Given the description of an element on the screen output the (x, y) to click on. 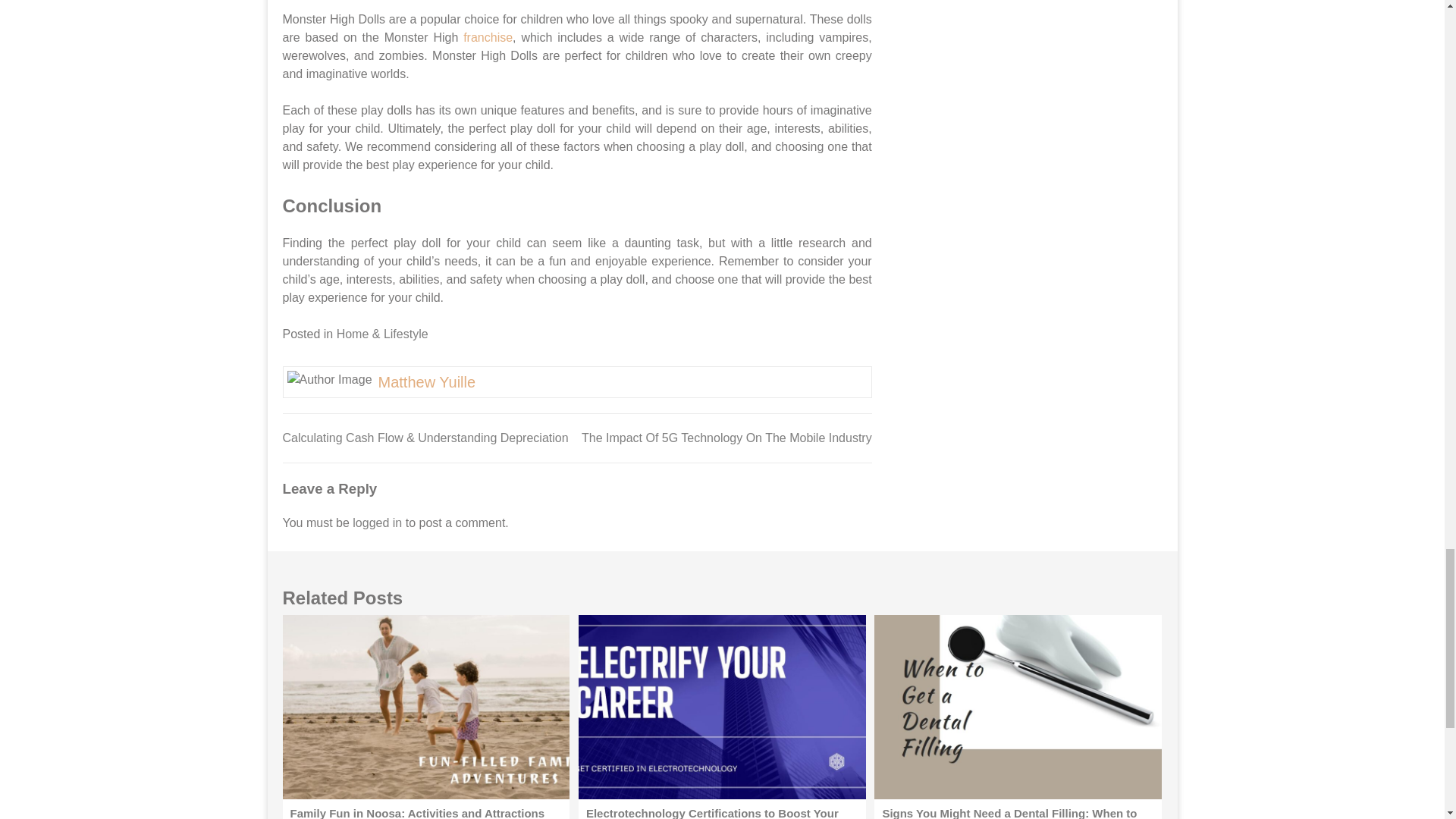
logged in (376, 522)
Family Fun in Noosa: Activities and Attractions for Kids (425, 707)
franchise (487, 37)
Author Image (328, 380)
The Impact Of 5G Technology On The Mobile Industry (726, 437)
Electrotechnology Certifications to Boost Your Career (722, 707)
